Given the description of an element on the screen output the (x, y) to click on. 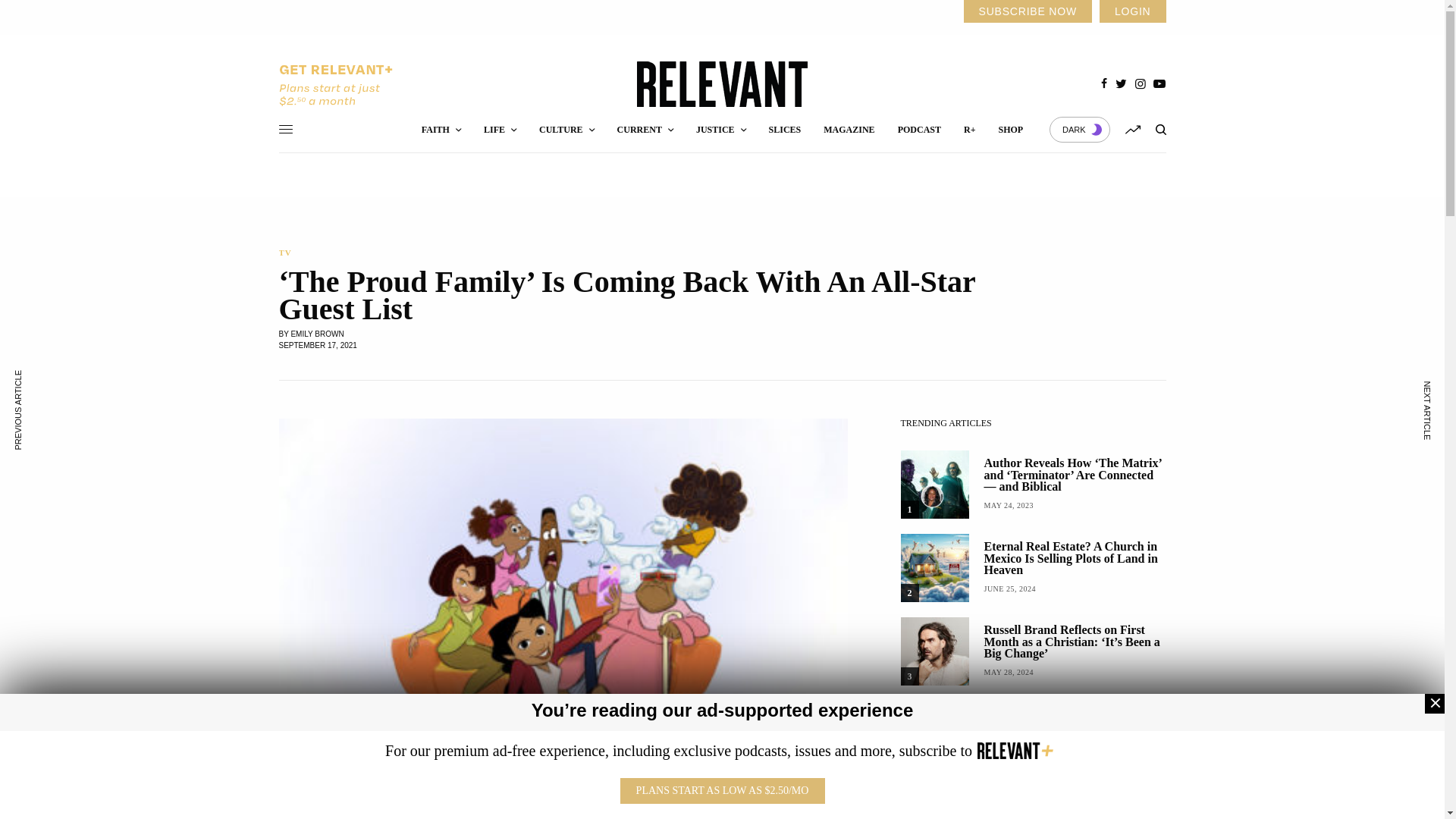
RELEVANT (722, 84)
SUBSCRIBE NOW (1026, 11)
LOGIN (1132, 11)
